Given the description of an element on the screen output the (x, y) to click on. 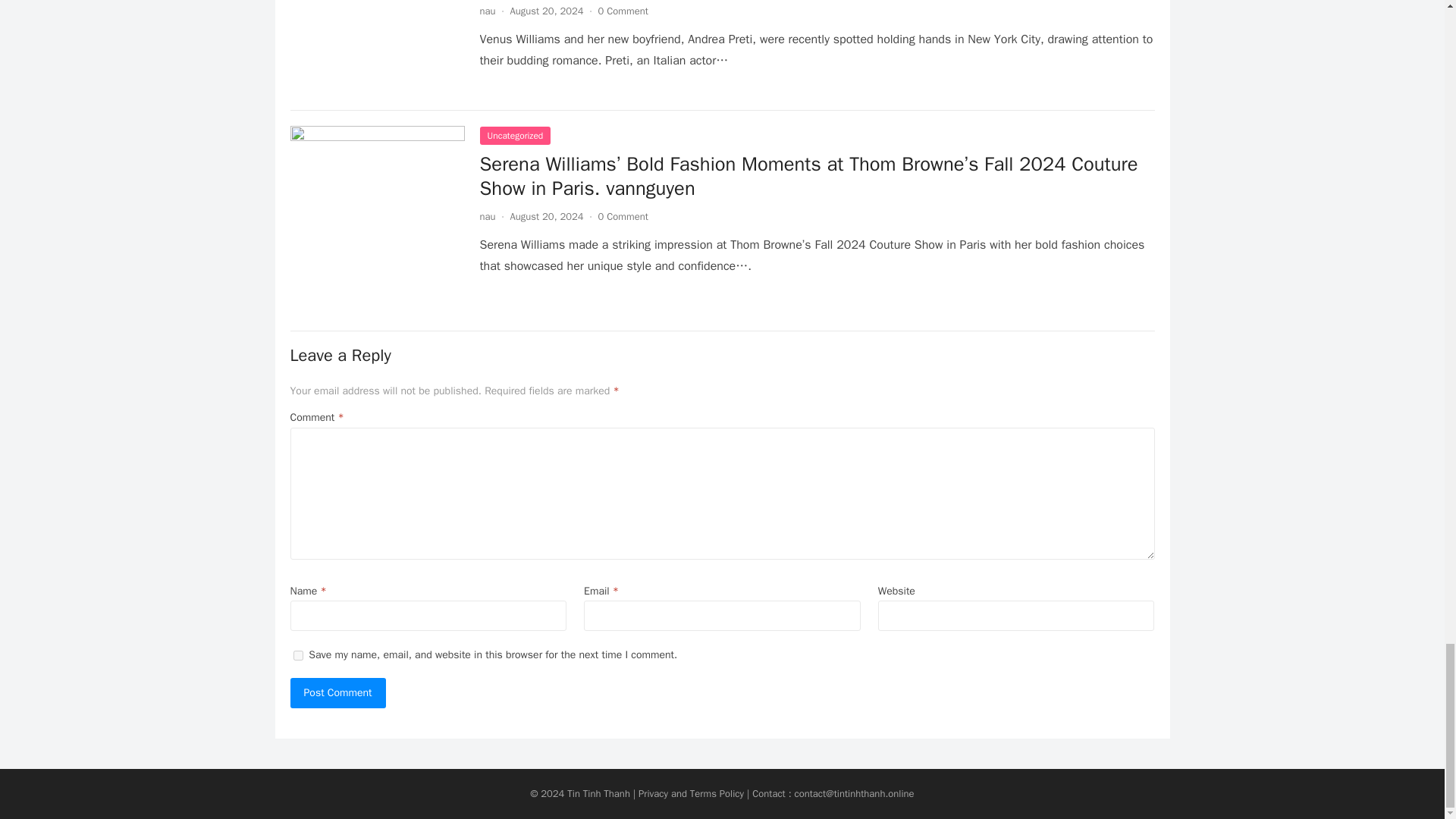
Post Comment (337, 693)
Posts by nau (487, 10)
Posts by nau (487, 215)
yes (297, 655)
